Given the description of an element on the screen output the (x, y) to click on. 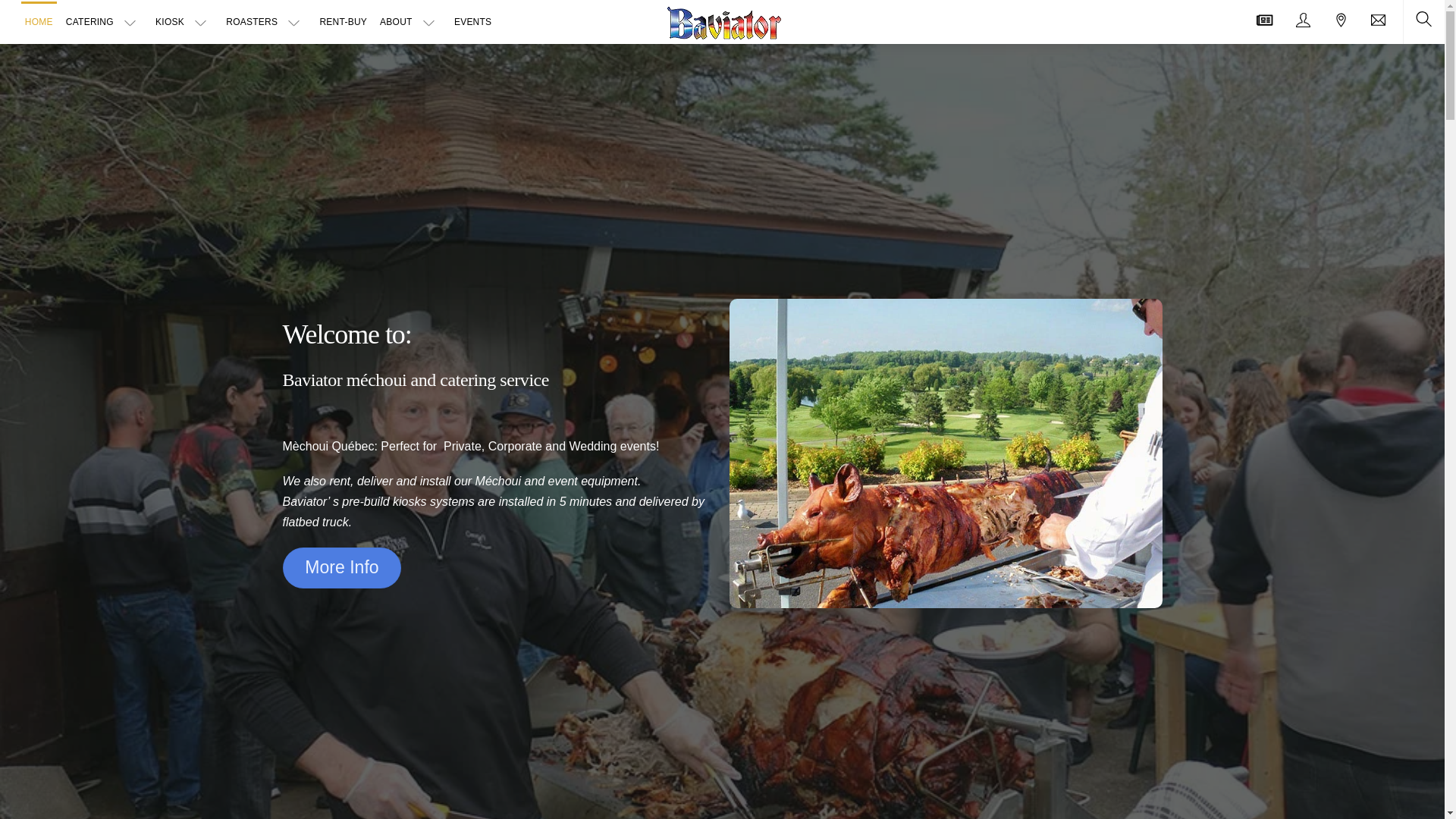
KIOSK (183, 22)
Baviator (723, 20)
ABOUT (409, 22)
Weddings (592, 445)
Private (462, 445)
RENT-BUY (343, 22)
Wedding (592, 445)
Corporate (514, 445)
CATERING (104, 22)
Corporate (514, 445)
ROASTERS (266, 22)
Private (462, 445)
EVENTS (472, 22)
More Info (341, 567)
